Given the description of an element on the screen output the (x, y) to click on. 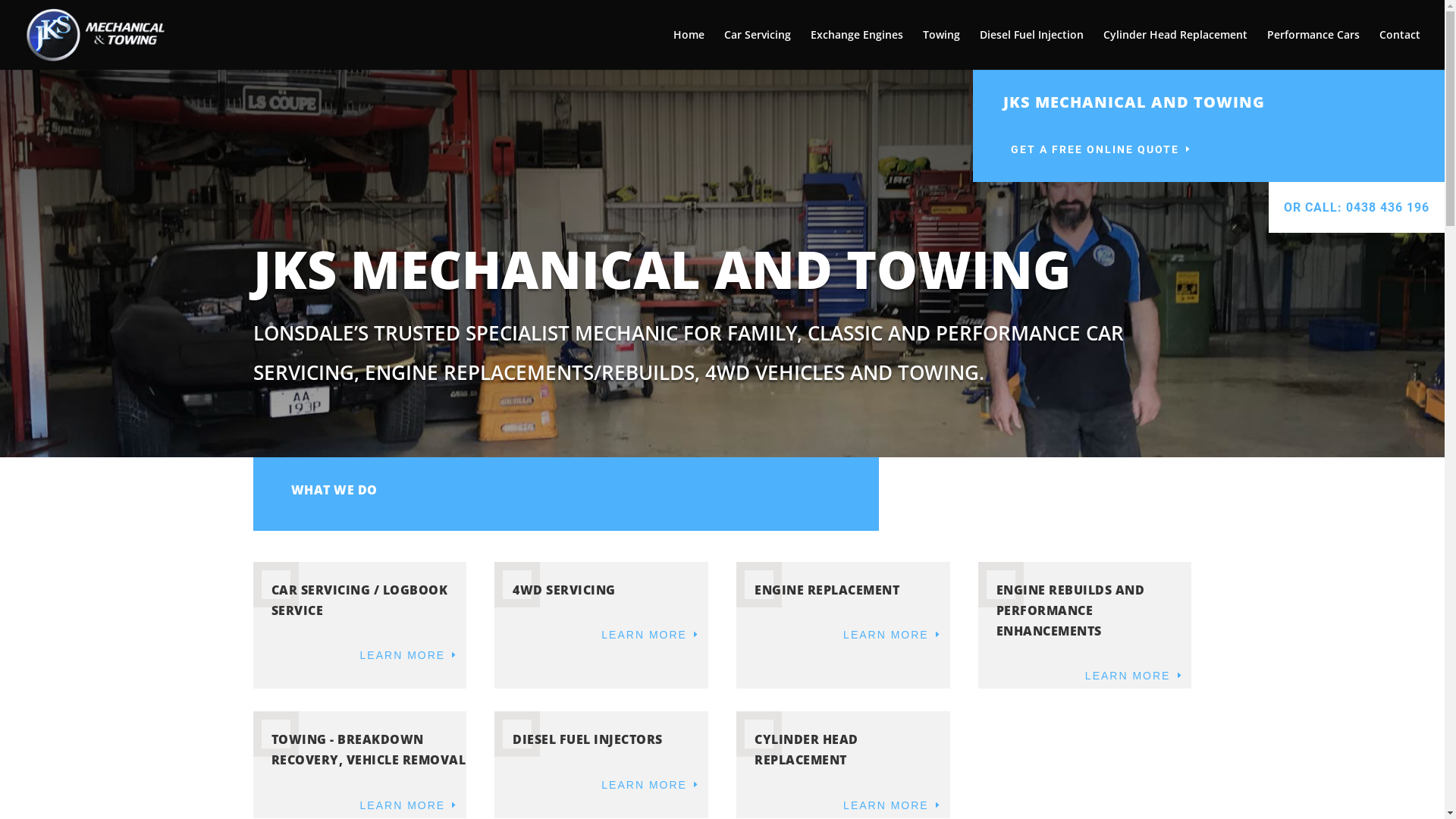
Home Element type: text (688, 49)
Cylinder Head Replacement Element type: text (1175, 49)
Performance Cars Element type: text (1313, 49)
LEARN MORE Element type: text (1134, 676)
LEARN MORE Element type: text (651, 784)
LEARN MORE Element type: text (892, 635)
Car Servicing Element type: text (757, 49)
LEARN MORE Element type: text (651, 635)
LEARN MORE Element type: text (409, 805)
LEARN MORE Element type: text (892, 805)
LEARN MORE Element type: text (409, 655)
Towing Element type: text (941, 49)
Diesel Fuel Injection Element type: text (1031, 49)
Contact Element type: text (1399, 49)
OR CALL: 0438 436 196 Element type: text (1356, 207)
Exchange Engines Element type: text (856, 49)
GET A FREE ONLINE QUOTE Element type: text (1101, 150)
